Given the description of an element on the screen output the (x, y) to click on. 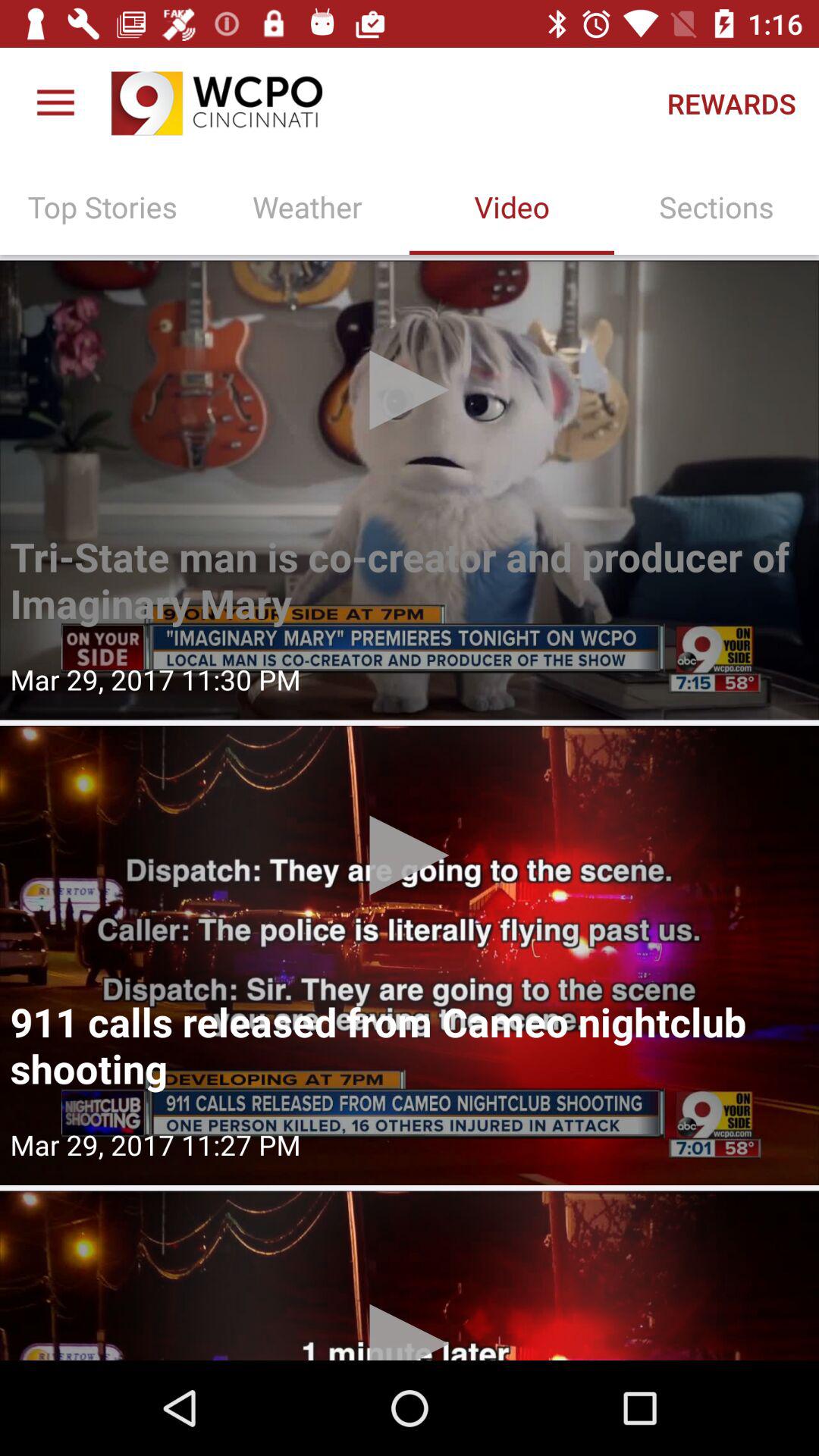
select the item above the sections item (731, 103)
